Given the description of an element on the screen output the (x, y) to click on. 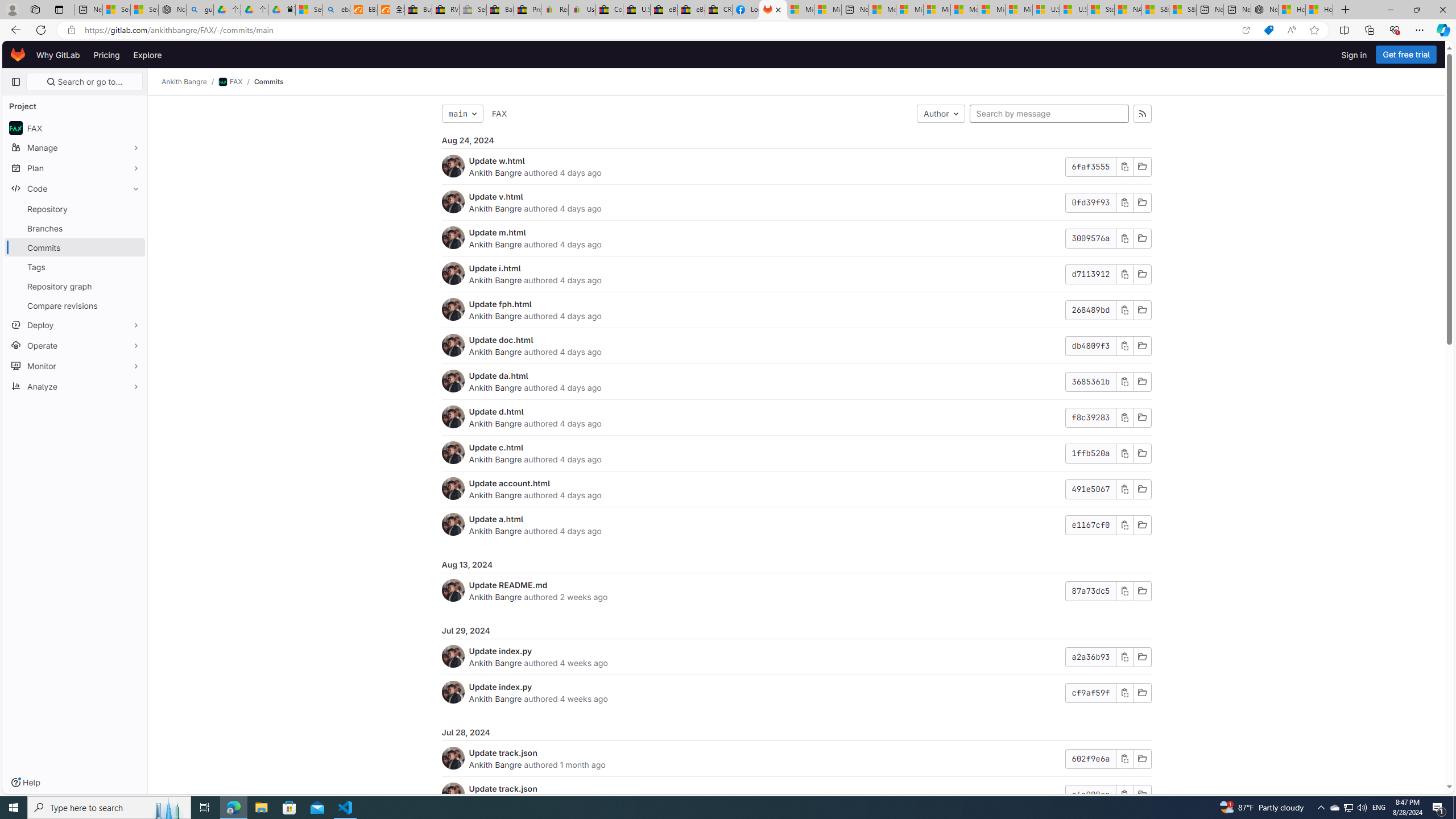
Aug 24, 2024 (796, 140)
Log into Facebook (746, 9)
Consumer Health Data Privacy Policy - eBay Inc. (609, 9)
Why GitLab (58, 54)
Buy Auto Parts & Accessories | eBay (418, 9)
Update doc.html (500, 339)
Update m.htmlAnkith Bangre authored 4 days ago3009576a (796, 238)
Primary navigation sidebar (15, 81)
Update index.py (500, 686)
